Given the description of an element on the screen output the (x, y) to click on. 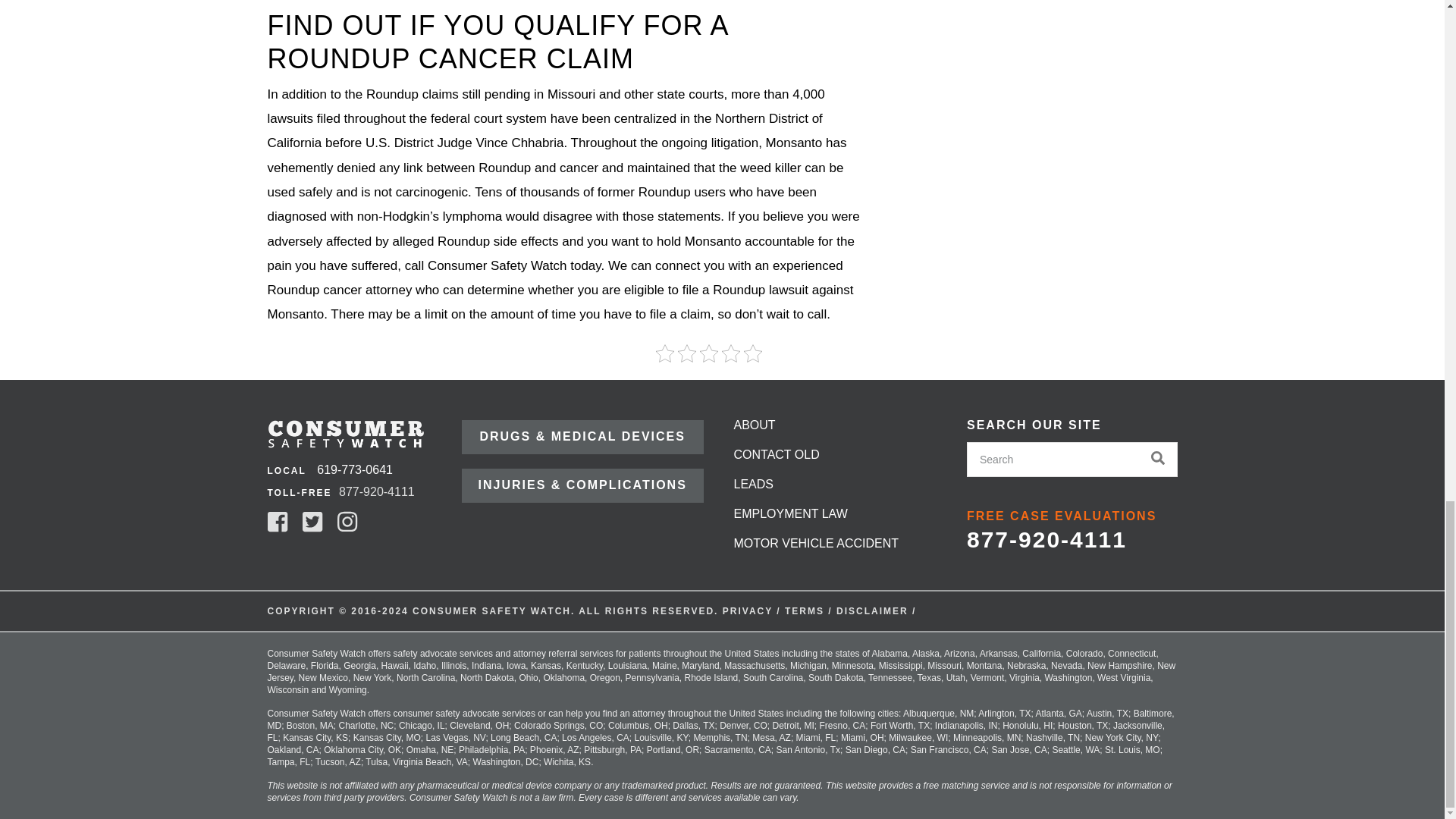
Search (1053, 459)
Search (1053, 459)
